Given the description of an element on the screen output the (x, y) to click on. 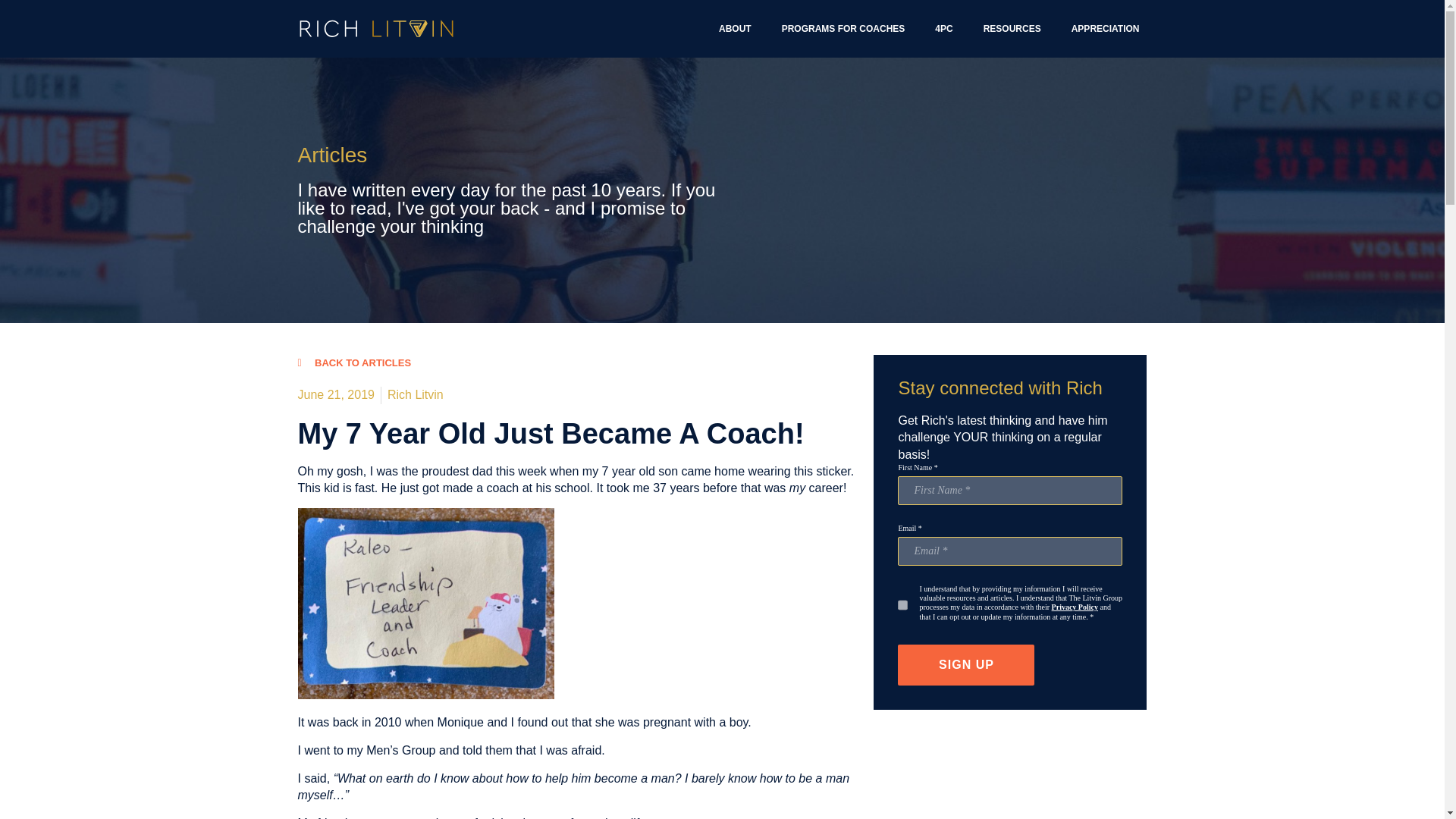
PROGRAMS FOR COACHES (843, 28)
ABOUT (735, 28)
APPRECIATION (1105, 28)
4PC (944, 28)
RESOURCES (1012, 28)
